Given the description of an element on the screen output the (x, y) to click on. 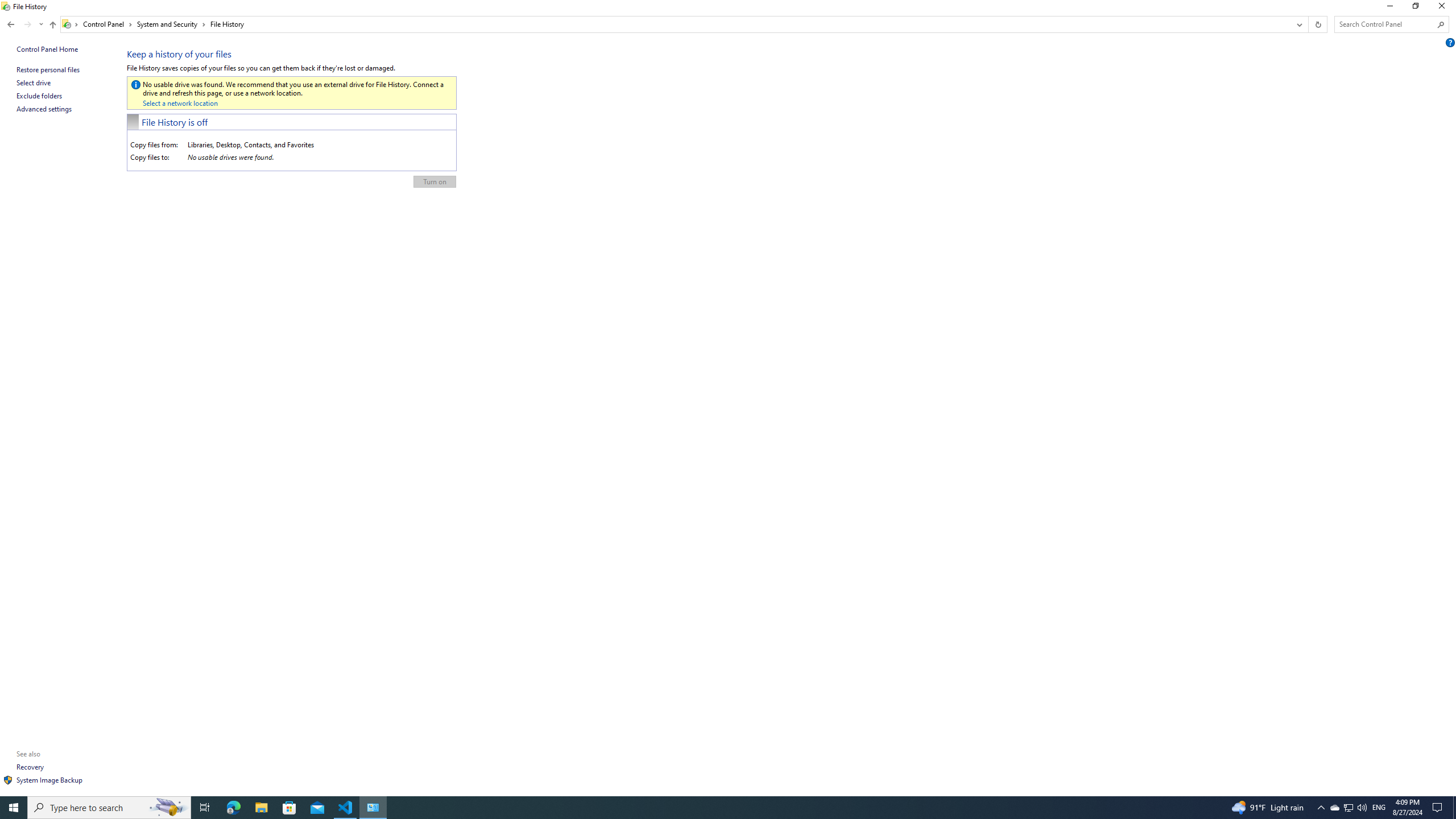
Navigation buttons (24, 23)
Turn on (435, 181)
System (6, 6)
Select drive (34, 82)
Icon (7, 779)
Control Panel - 1 running window (373, 807)
File History (227, 23)
Restore personal files (48, 69)
Recent locations (40, 23)
Help (1450, 42)
Previous Locations (1298, 23)
